Given the description of an element on the screen output the (x, y) to click on. 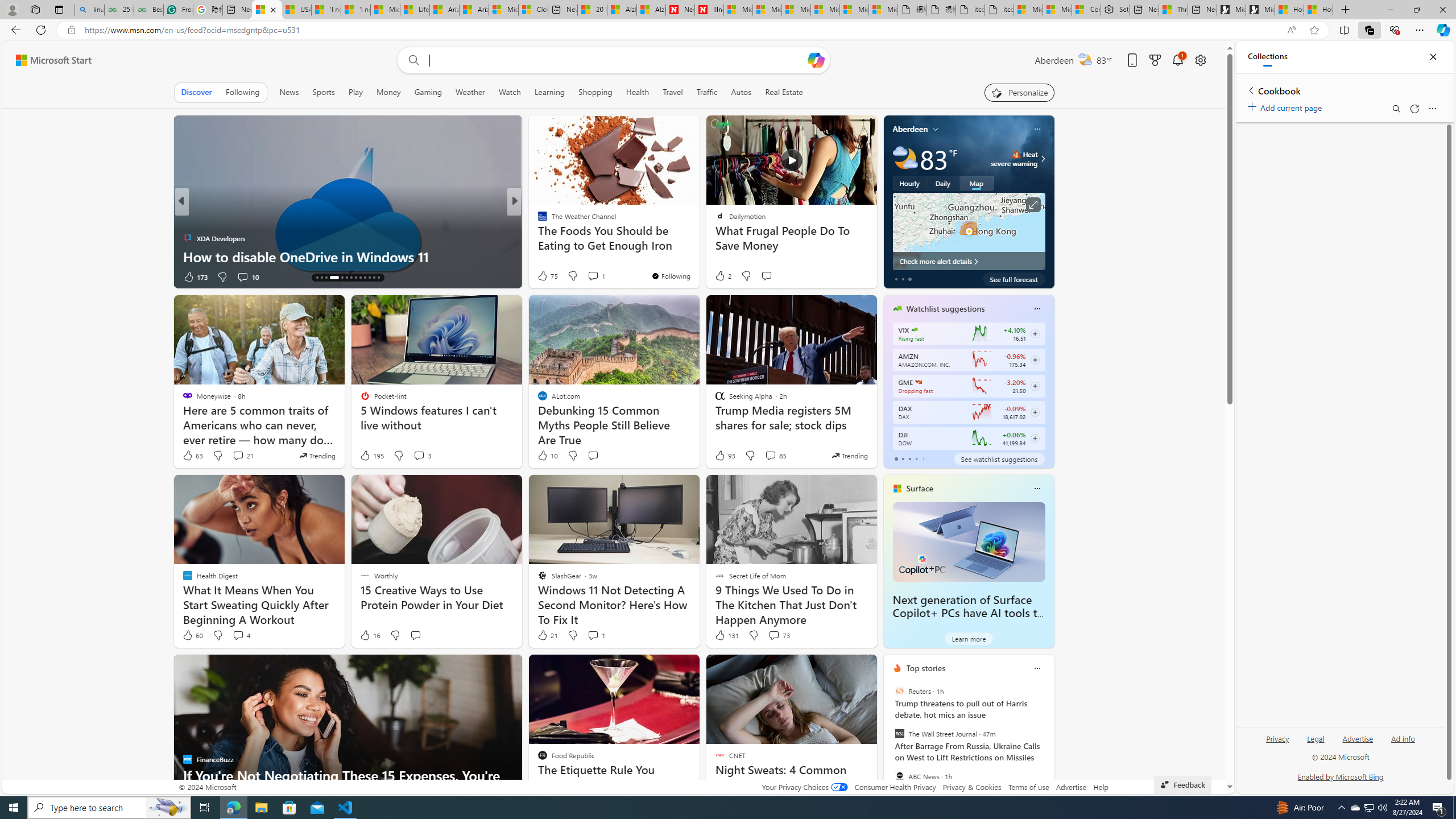
Three Ways To Stop Sweating So Much (1173, 9)
Top stories (925, 668)
AutomationID: tab-14 (317, 277)
View comments 73 Comment (773, 635)
Newsweek - News, Analysis, Politics, Business, Technology (679, 9)
View comments 4 Comment (237, 635)
tab-3 (916, 458)
tab-2 (908, 458)
View comments 10 Comment (247, 276)
See full forecast (1013, 278)
